Given the description of an element on the screen output the (x, y) to click on. 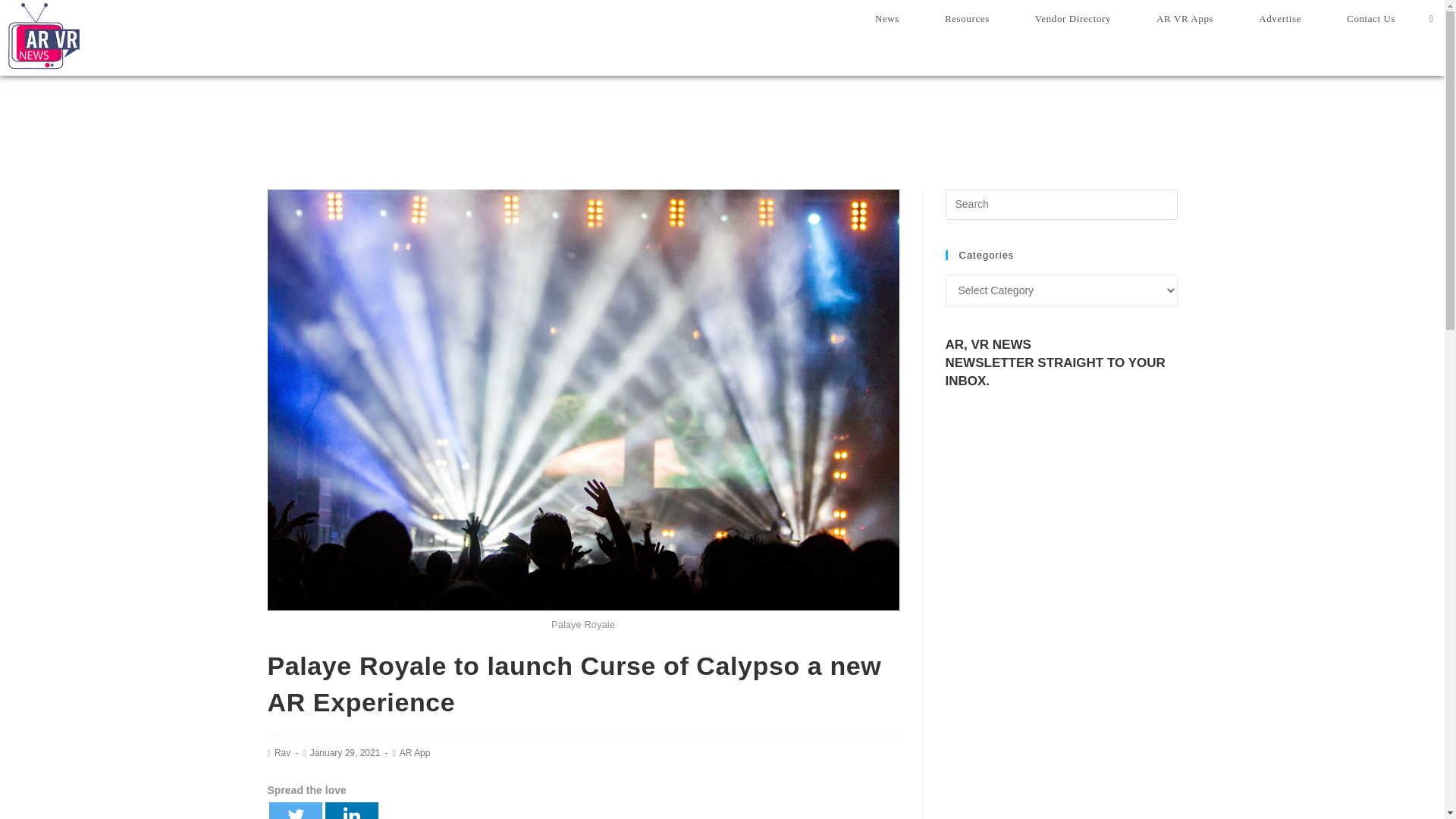
News (886, 18)
Advertise (1279, 18)
Linkedin (350, 810)
Contact Us (1370, 18)
Vendor Directory (1072, 18)
AR VR Apps (1185, 18)
Rav (282, 752)
Twitter (294, 810)
Resources (966, 18)
Posts by Rav (282, 752)
